Given the description of an element on the screen output the (x, y) to click on. 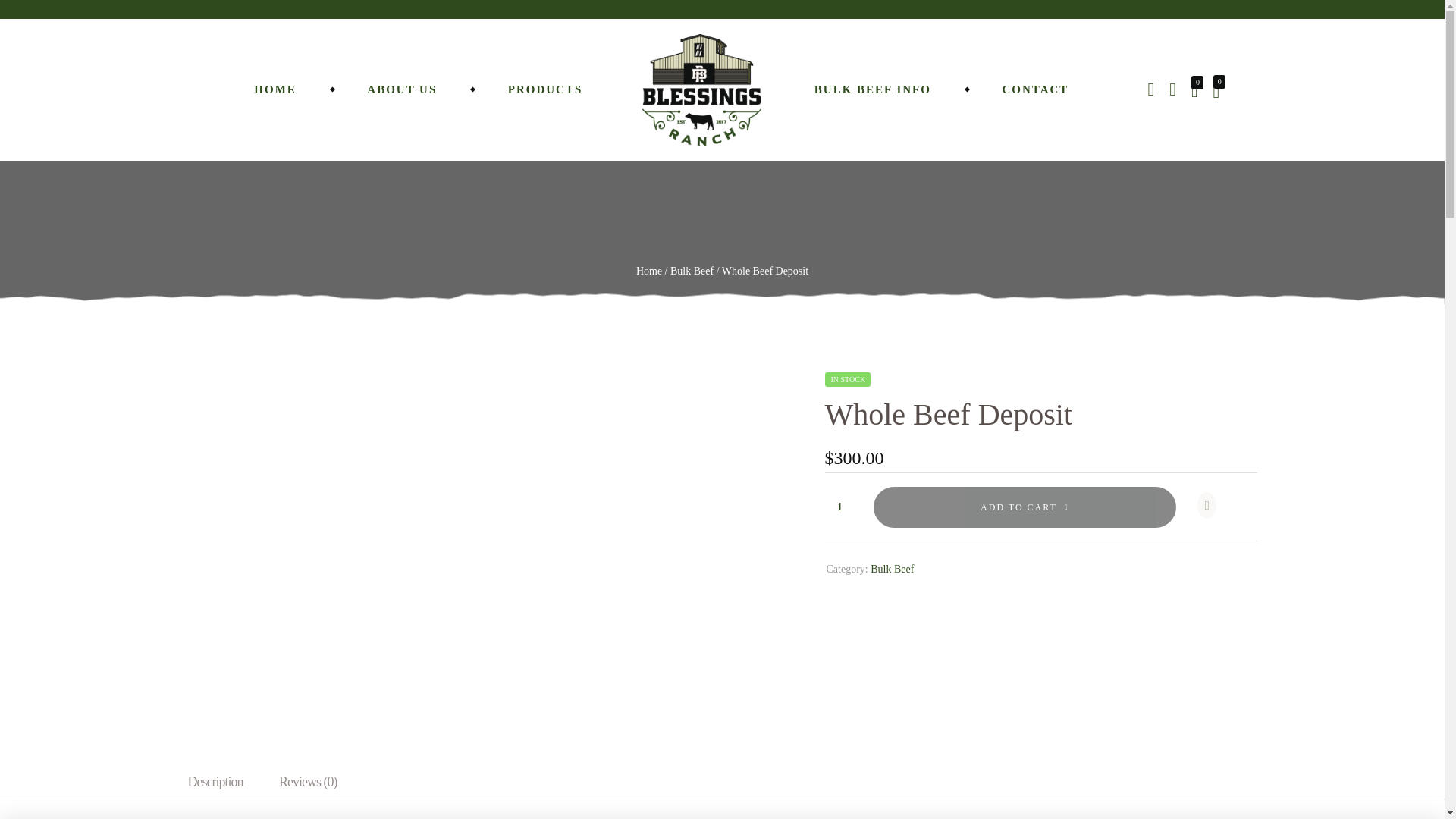
Bulk Beef (892, 568)
Home (649, 270)
ADD TO WISHLIST (1211, 507)
Description (215, 781)
Qty (838, 506)
Bulk Beef (691, 270)
BULK BEEF INFO (872, 89)
ADD TO CART (1024, 506)
1 (838, 506)
